Given the description of an element on the screen output the (x, y) to click on. 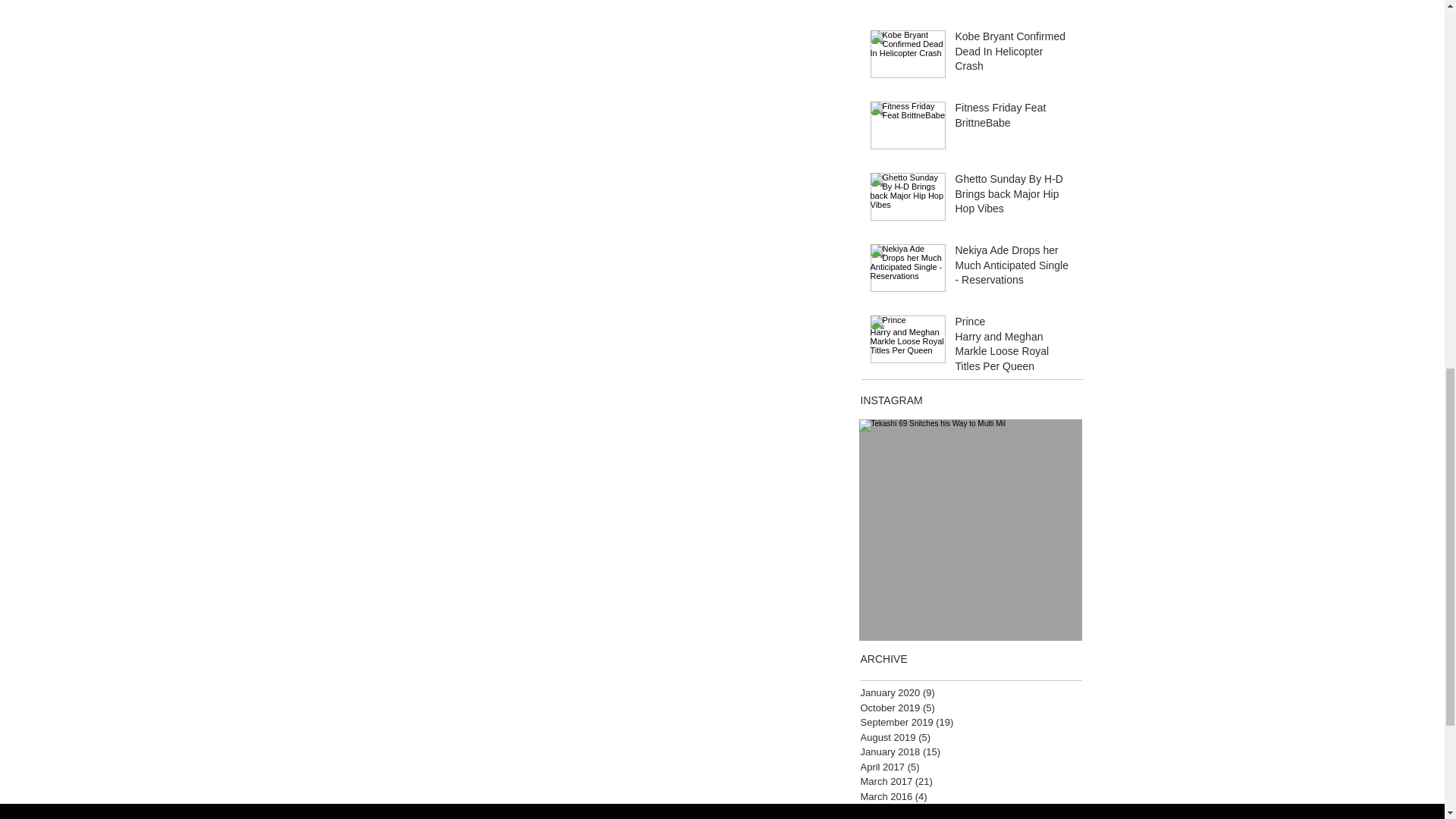
Kobe Bryant Confirmed Dead In Helicopter Crash (1014, 54)
Nekiya Ade Drops her Much Anticipated Single - Reservations (1014, 268)
Fitness Friday Feat BrittneBabe (1014, 118)
Ghetto Sunday By H-D Brings back Major Hip Hop Vibes (1014, 196)
